Given the description of an element on the screen output the (x, y) to click on. 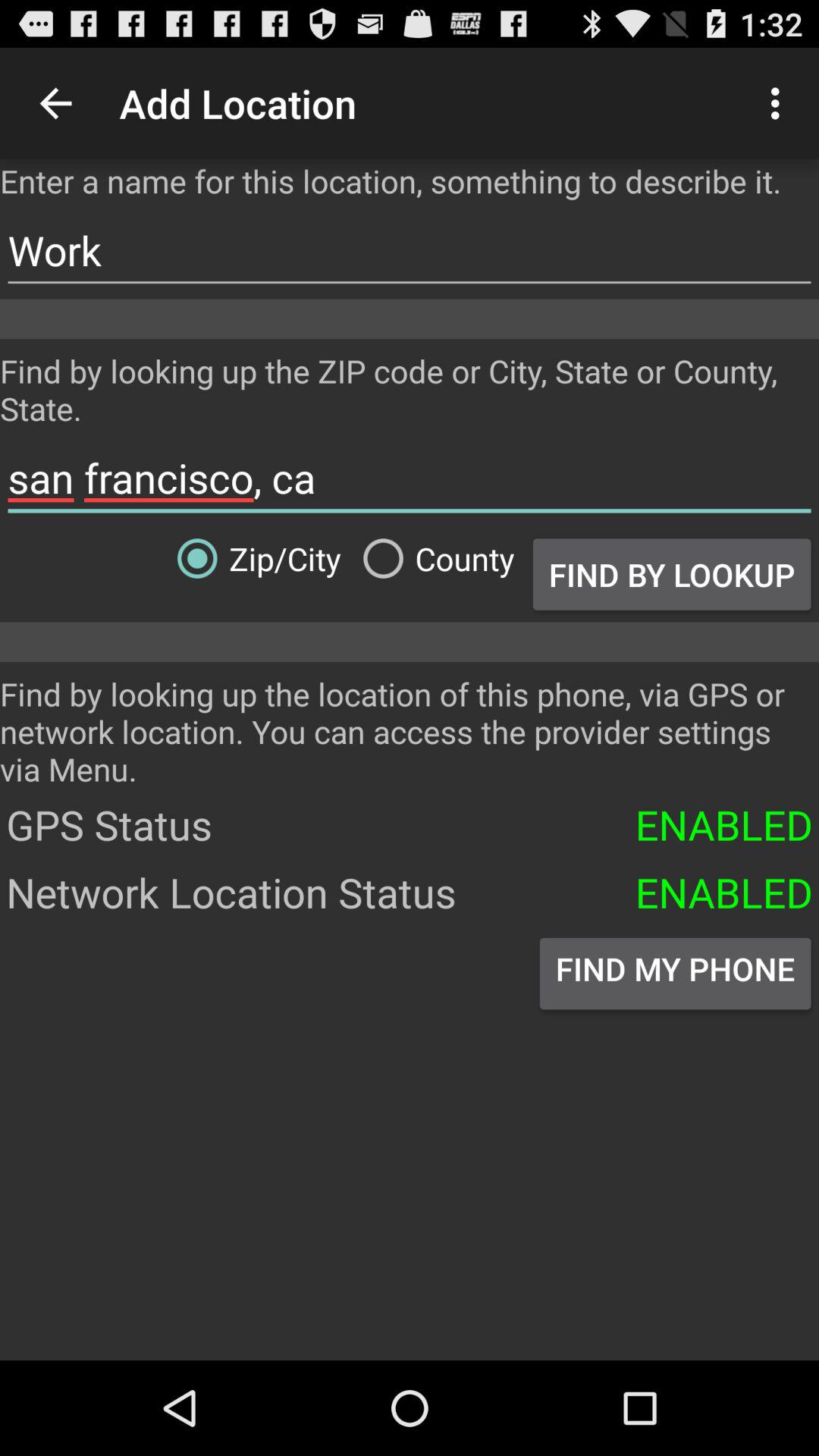
press item below find by looking item (409, 477)
